Given the description of an element on the screen output the (x, y) to click on. 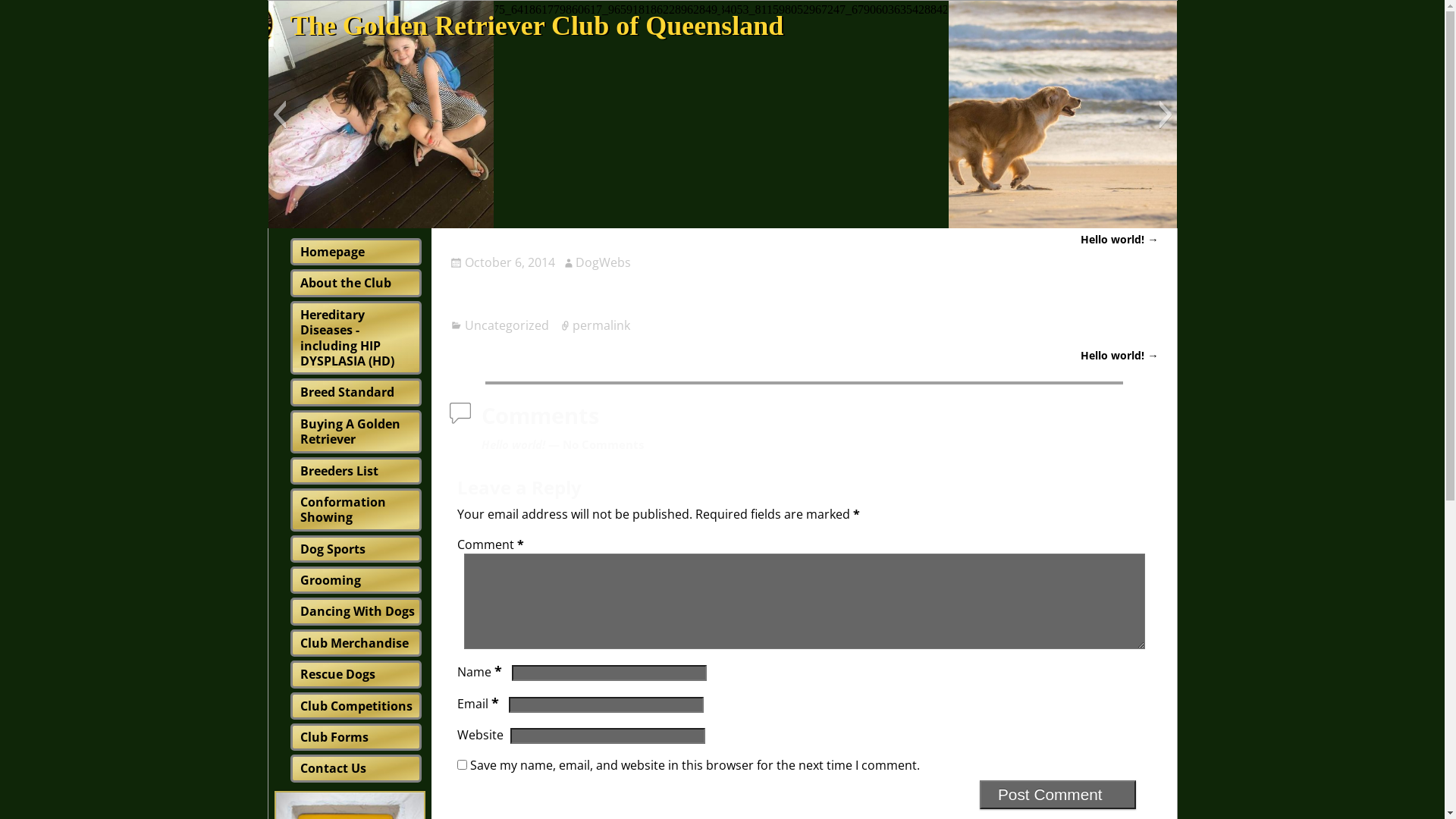
Dancing With Dogs Element type: text (357, 610)
Breeders List Element type: text (339, 470)
Grooming Element type: text (330, 579)
Club Merchandise Element type: text (354, 642)
Hereditary Diseases - including HIP DYSPLASIA (HD) Element type: text (347, 337)
Rescue Dogs Element type: text (337, 673)
Contact Us Element type: text (333, 767)
Post Comment Element type: text (1057, 794)
Breed Standard Element type: text (347, 391)
About the Club Element type: text (345, 282)
Conformation Showing Element type: text (342, 509)
Dog Sports Element type: text (332, 548)
permalink Element type: text (601, 324)
October 6, 2014 Element type: text (502, 262)
Uncategorized Element type: text (506, 324)
Buying A Golden Retriever Element type: text (350, 431)
Club Forms Element type: text (334, 736)
DogWebs Element type: text (602, 262)
Homepage Element type: text (332, 251)
The Golden Retriever Club of Queensland Element type: text (536, 25)
Club Competitions Element type: text (356, 705)
